Given the description of an element on the screen output the (x, y) to click on. 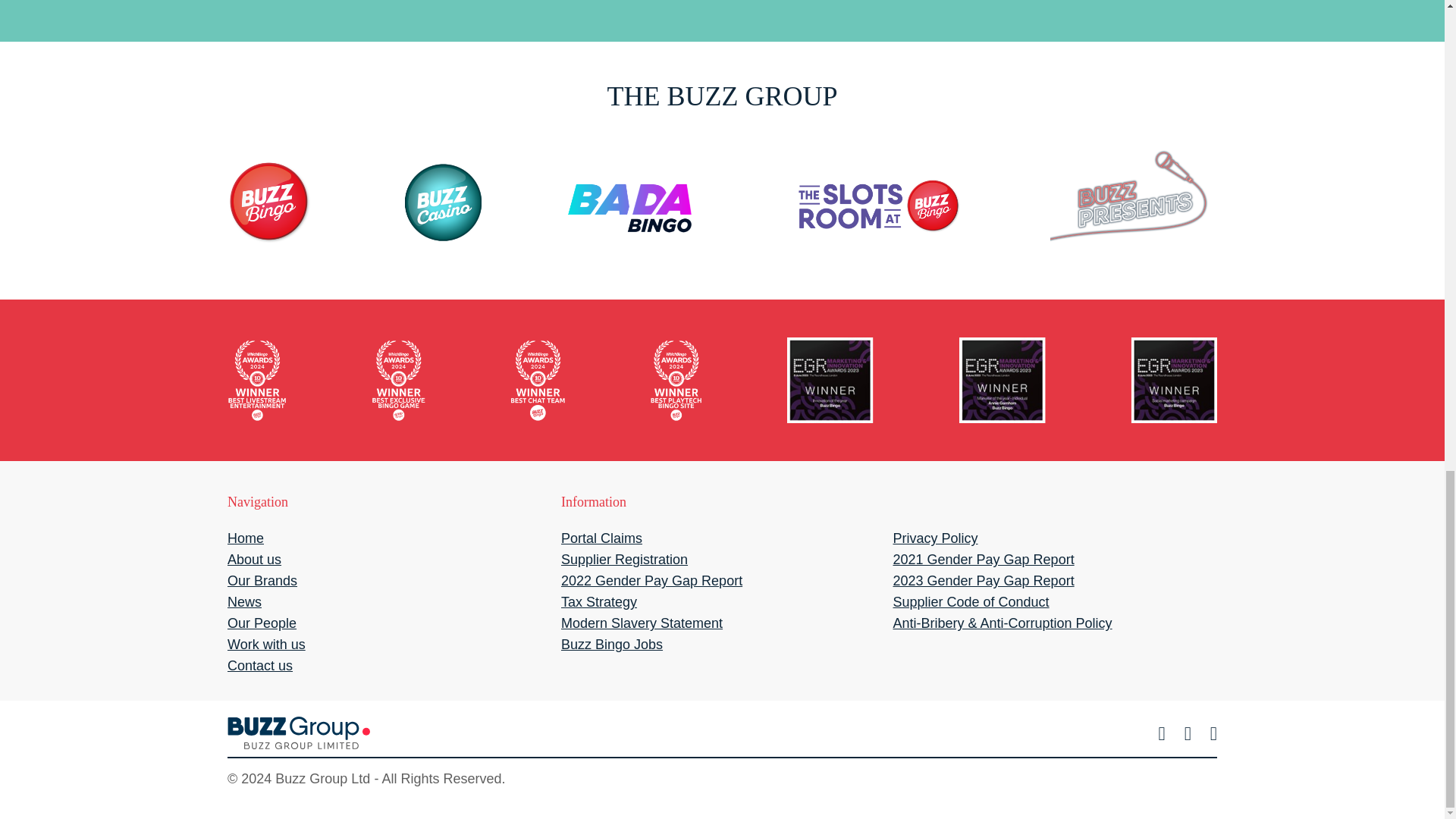
2022 Gender Pay Gap Report (651, 580)
Our People (262, 622)
2021 Gender Pay Gap Report (983, 559)
Tax Strategy (598, 601)
About us (254, 559)
Home (245, 538)
Modern Slavery Statement (641, 622)
News (244, 601)
Contact us (259, 665)
Our Brands (262, 580)
Privacy Policy (934, 538)
Supplier Code of Conduct (970, 601)
Portal Claims (601, 538)
Buzz Bingo Jobs (611, 644)
2023 Gender Pay Gap Report (983, 580)
